Given the description of an element on the screen output the (x, y) to click on. 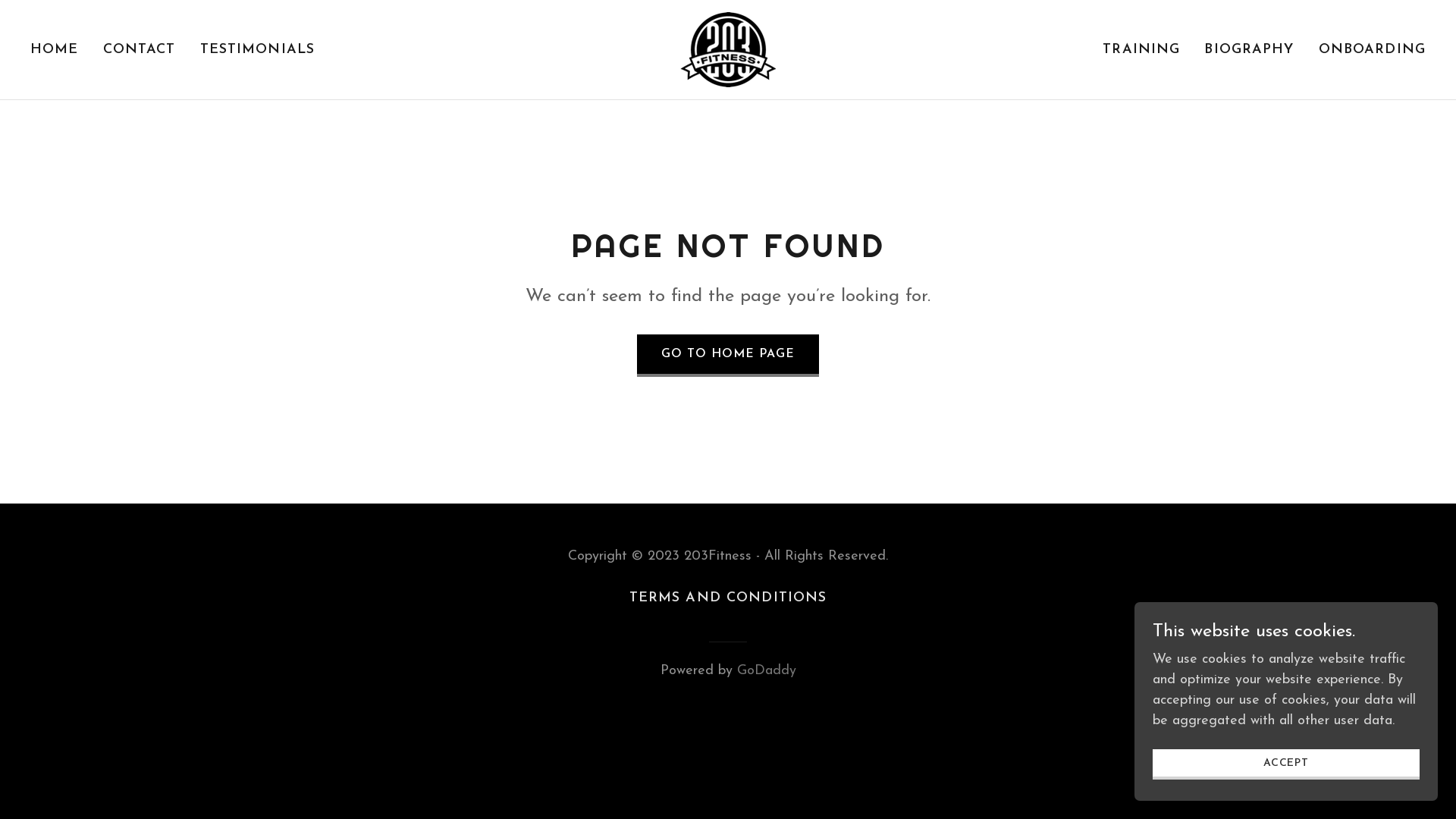
TERMS AND CONDITIONS Element type: text (728, 597)
BIOGRAPHY Element type: text (1248, 49)
HOME Element type: text (54, 49)
CONTACT Element type: text (139, 49)
TRAINING Element type: text (1141, 49)
GO TO HOME PAGE Element type: text (728, 355)
ACCEPT Element type: text (1285, 764)
ONBOARDING Element type: text (1372, 49)
GoDaddy Element type: text (766, 670)
TESTIMONIALS Element type: text (257, 49)
